Given the description of an element on the screen output the (x, y) to click on. 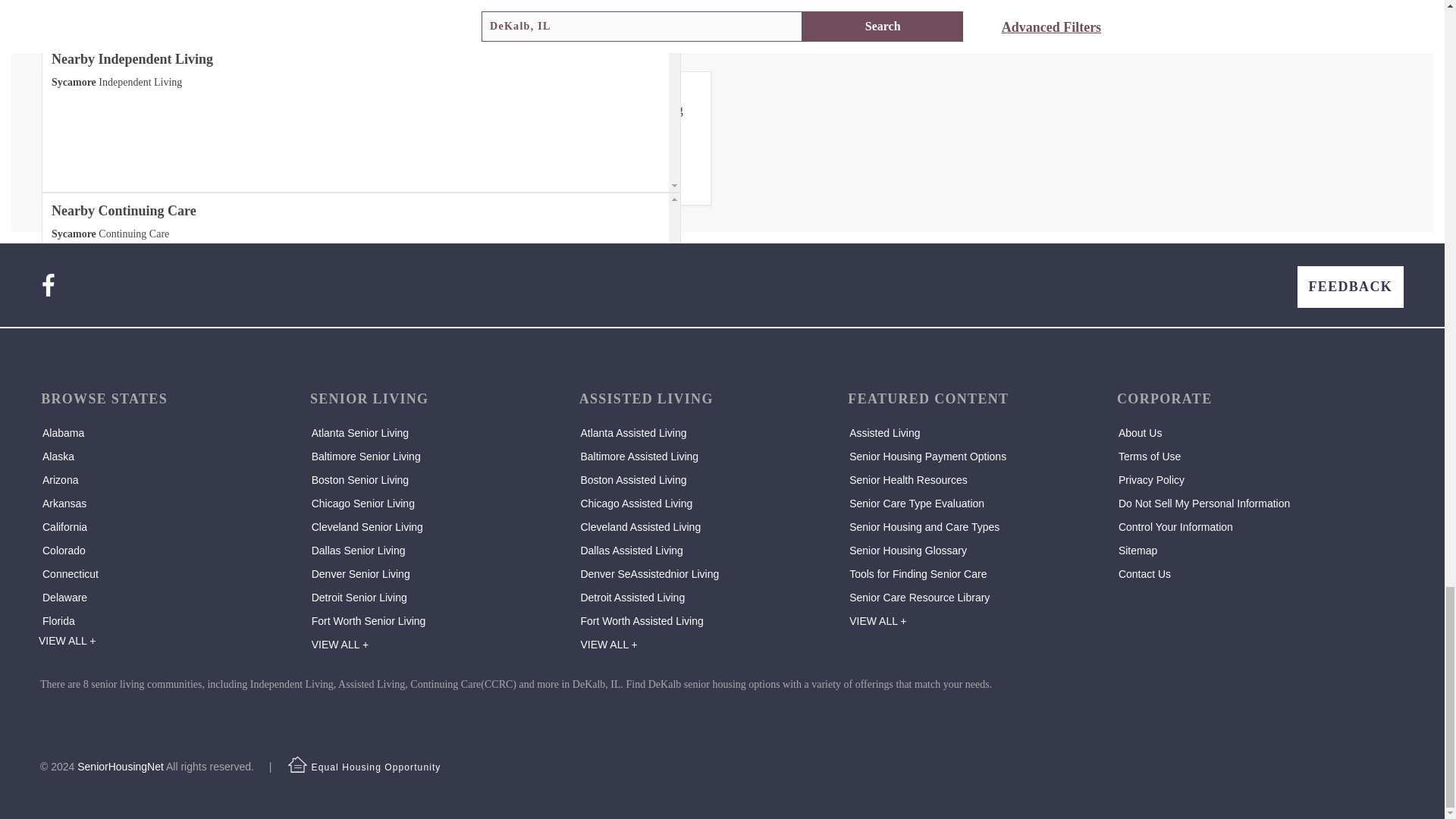
Arkansas (63, 503)
Colorado (63, 550)
Sycamore Independent Living (116, 81)
Sycamore Continuing Care (109, 233)
FEEDBACK (1349, 286)
Alaska (58, 456)
California (64, 526)
Arizona (60, 480)
Alabama (63, 432)
Connecticut (70, 573)
